Given the description of an element on the screen output the (x, y) to click on. 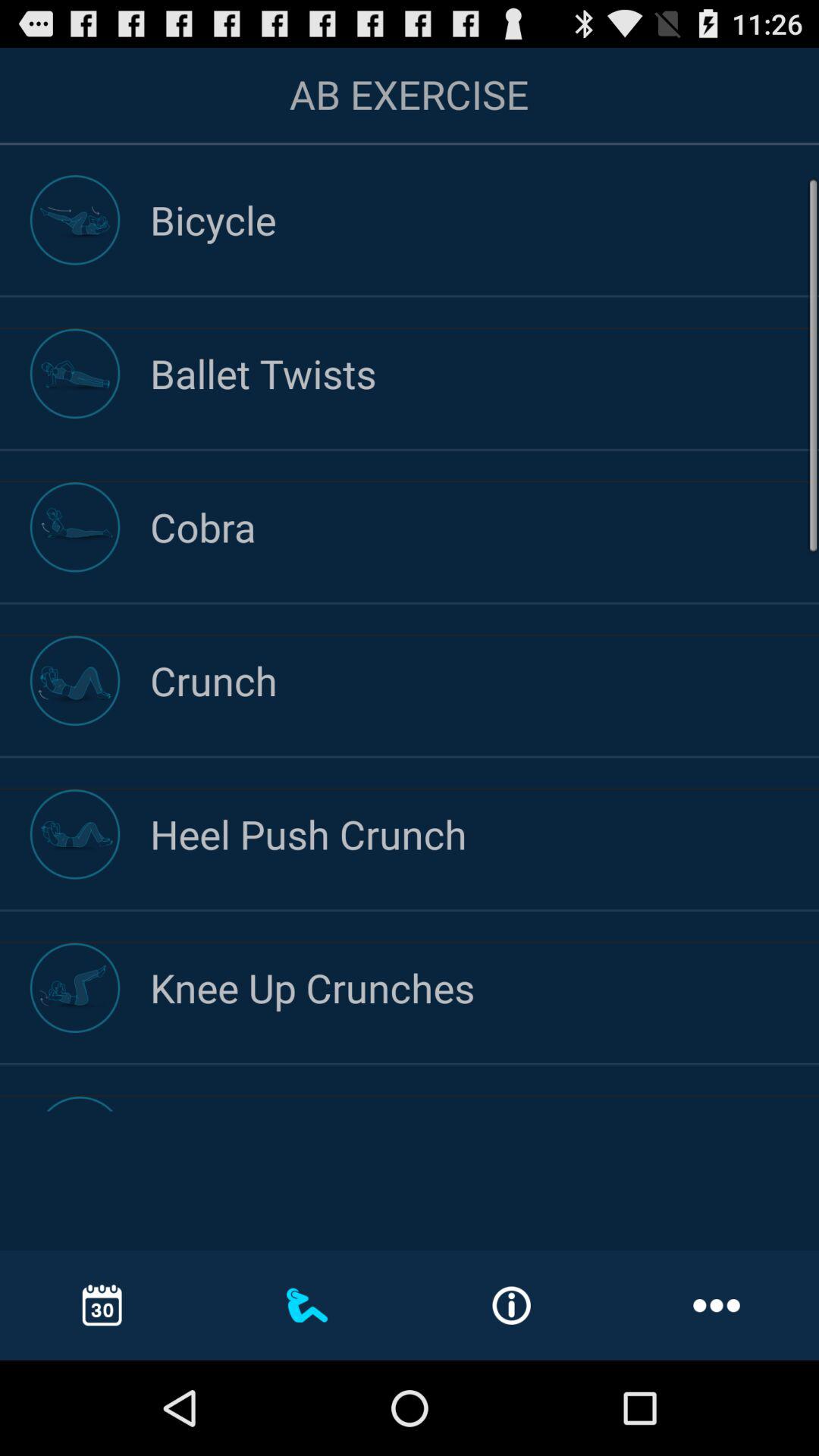
turn off knee up crunches (484, 987)
